Given the description of an element on the screen output the (x, y) to click on. 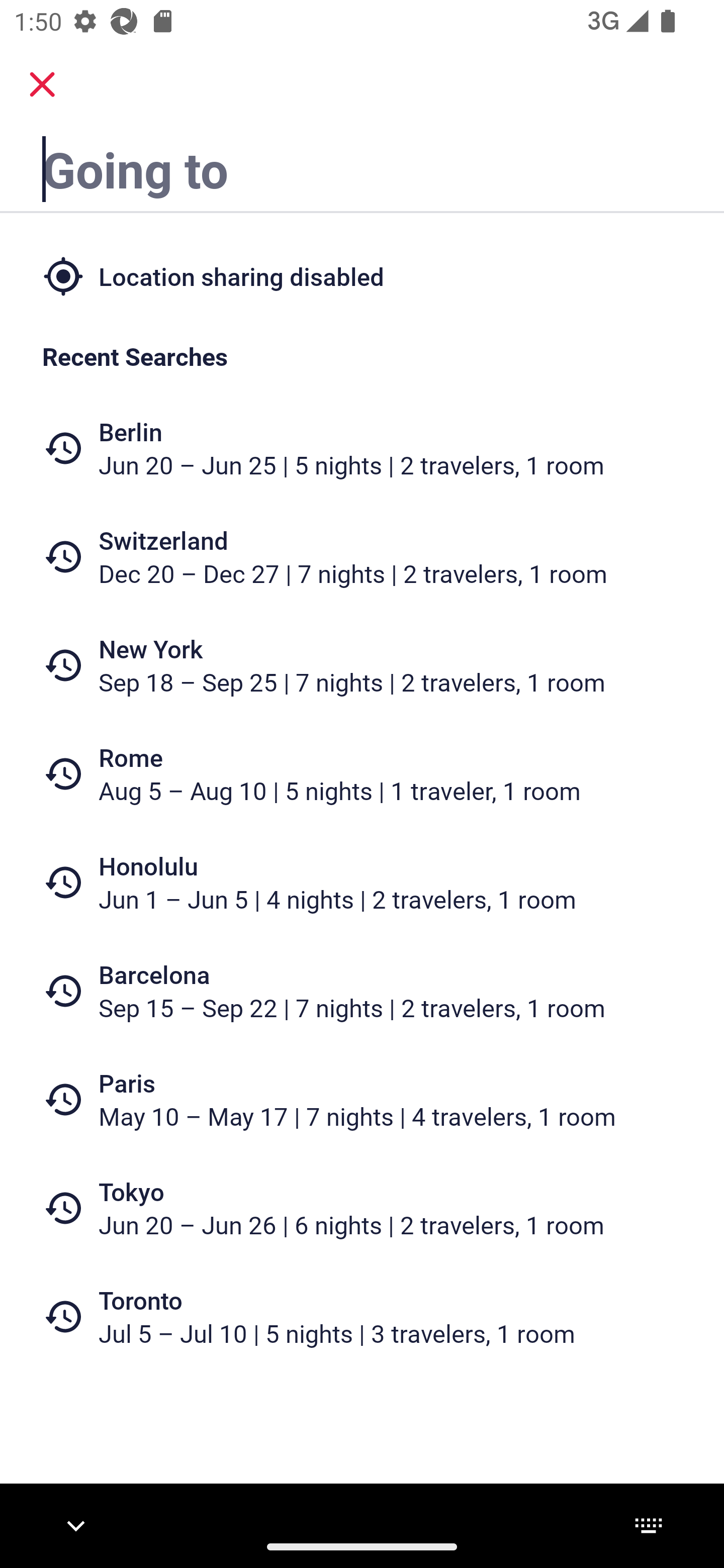
close. (42, 84)
Location sharing disabled (362, 275)
